Given the description of an element on the screen output the (x, y) to click on. 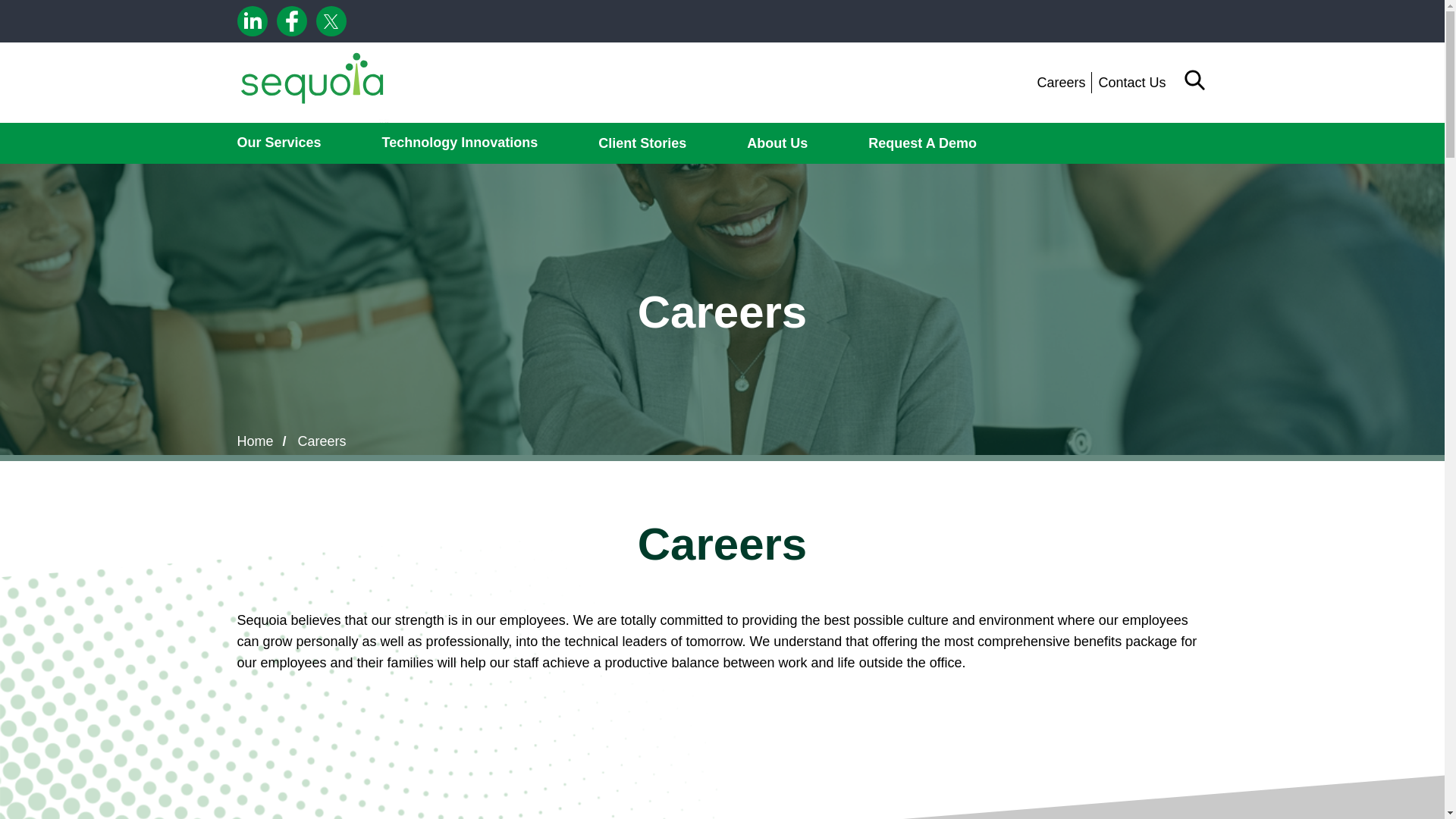
Home (311, 82)
Technology Innovations (459, 142)
Our Services (277, 142)
About Us (777, 142)
Request A Demo (921, 142)
Contact Us (1129, 82)
Careers (1063, 82)
Client Stories (641, 142)
Home (254, 441)
